Given the description of an element on the screen output the (x, y) to click on. 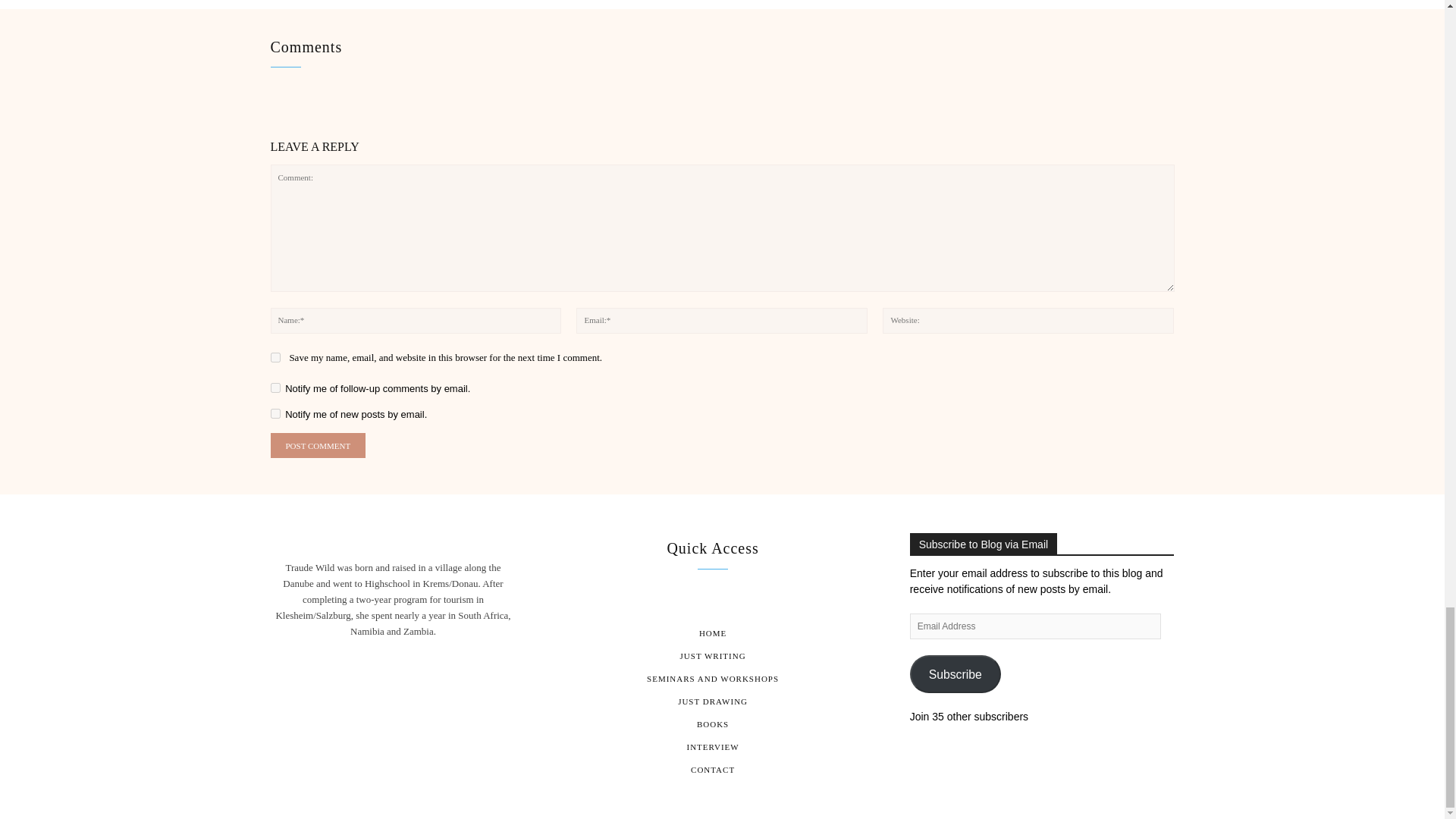
subscribe (274, 388)
yes (274, 357)
subscribe (274, 413)
Post Comment (317, 445)
